Given the description of an element on the screen output the (x, y) to click on. 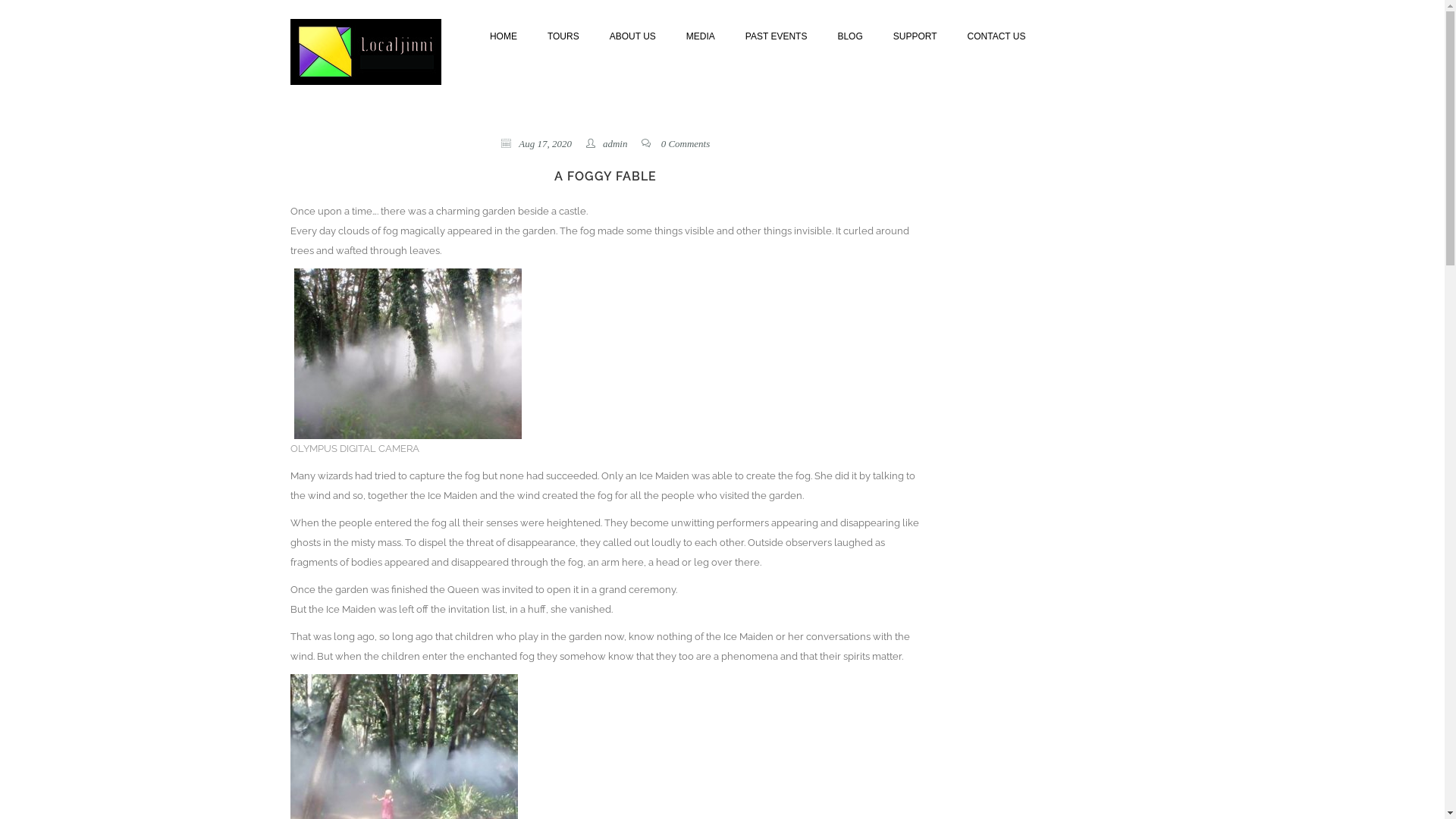
BLOG Element type: text (849, 35)
TOURS Element type: text (563, 35)
SUPPORT Element type: text (915, 35)
CONTACT US Element type: text (996, 35)
PAST EVENTS Element type: text (776, 35)
A FOGGY FABLE Element type: text (605, 176)
ABOUT US Element type: text (632, 35)
MEDIA Element type: text (700, 35)
HOME Element type: text (503, 35)
